Given the description of an element on the screen output the (x, y) to click on. 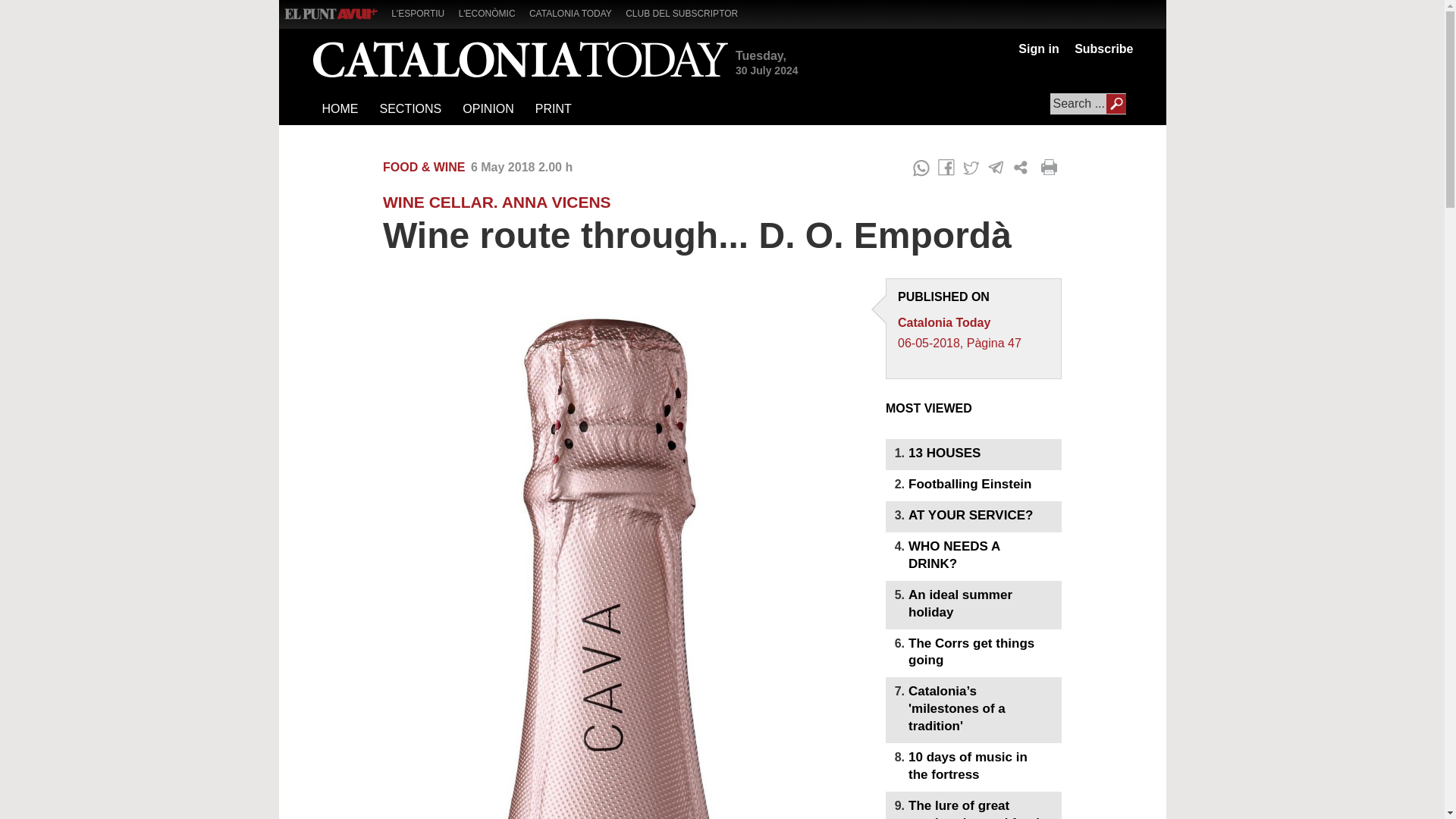
Share on Facebook (946, 167)
CATALONIA TODAY (576, 12)
HOME (339, 109)
Share on WhatsApp (921, 167)
Search ... (1087, 103)
PRINT (552, 109)
L'ESPORTIU (423, 12)
Share on Telegram (997, 167)
Sign in (1037, 49)
Subscribe (1099, 48)
Print (1051, 167)
Share on Twitter (970, 167)
El Punt Avui (330, 13)
CLUB DEL SUBSCRIPTOR (687, 12)
Search ... (1087, 103)
